Given the description of an element on the screen output the (x, y) to click on. 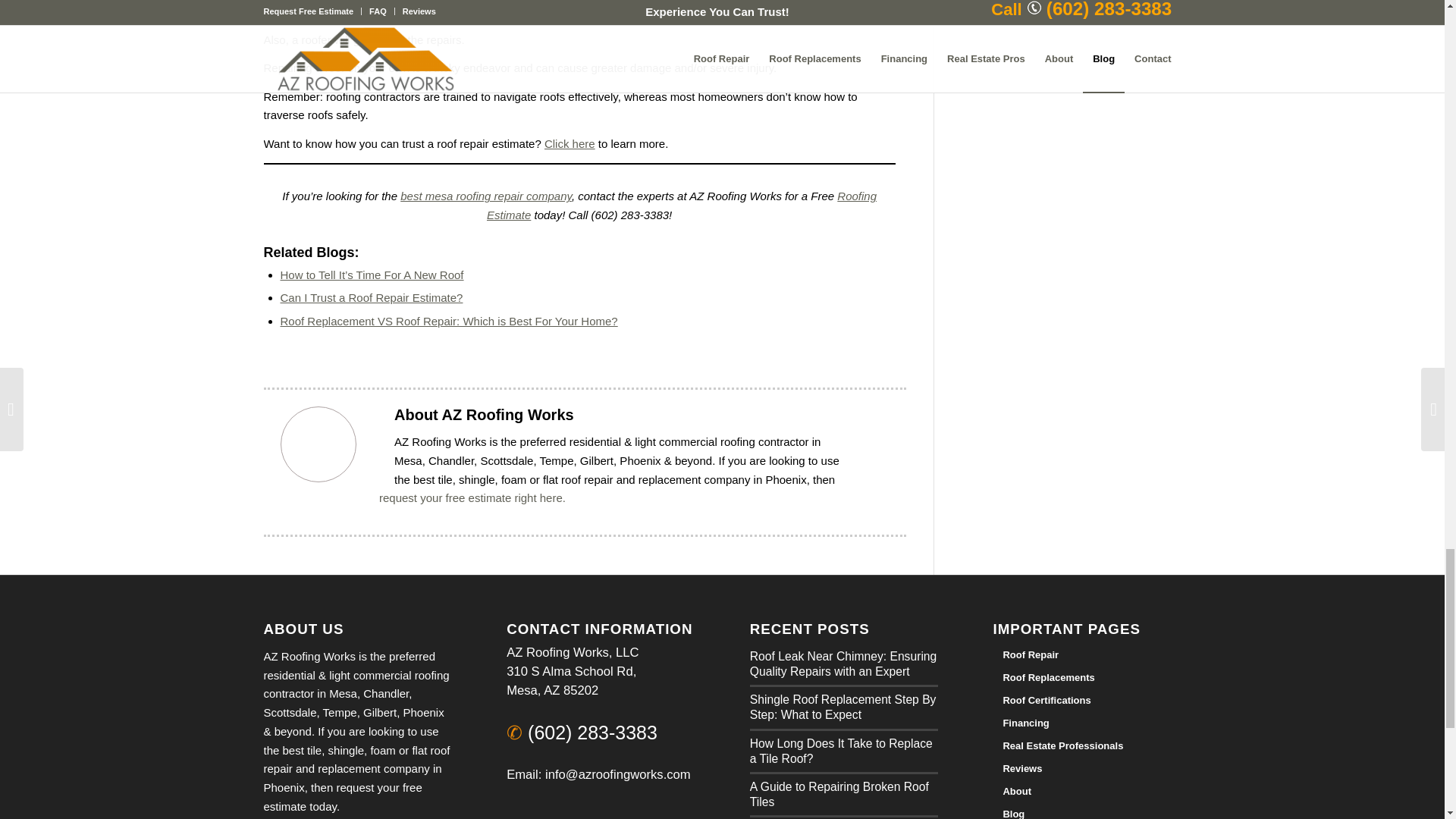
Can I Trust a Roof Repair Estimate? (372, 297)
request your free estimate right here. (472, 497)
Roofing Estimate (681, 205)
Click here (569, 143)
best mesa roofing repair company (486, 195)
